Given the description of an element on the screen output the (x, y) to click on. 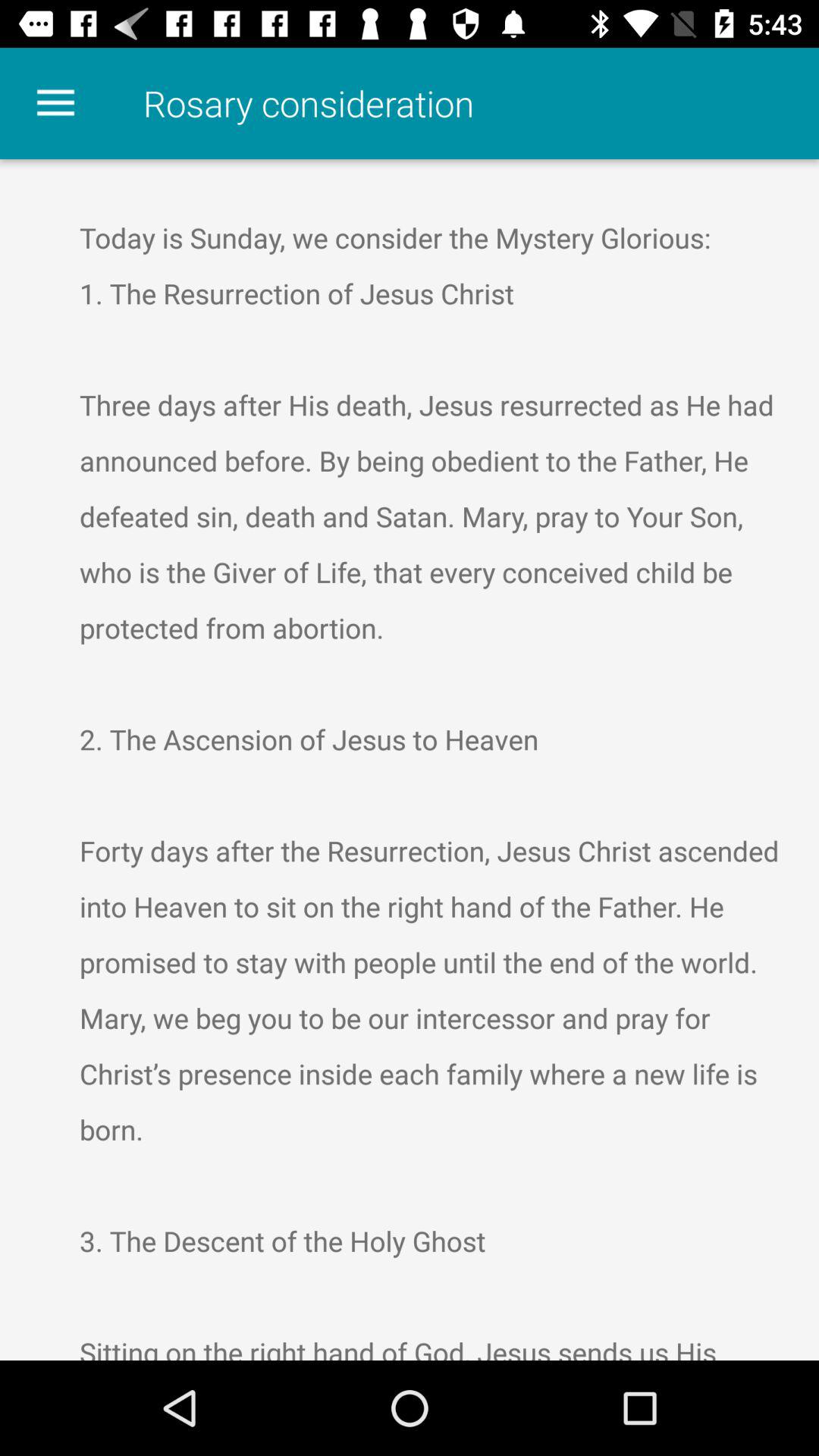
turn off the icon to the left of rosary consideration icon (55, 103)
